Given the description of an element on the screen output the (x, y) to click on. 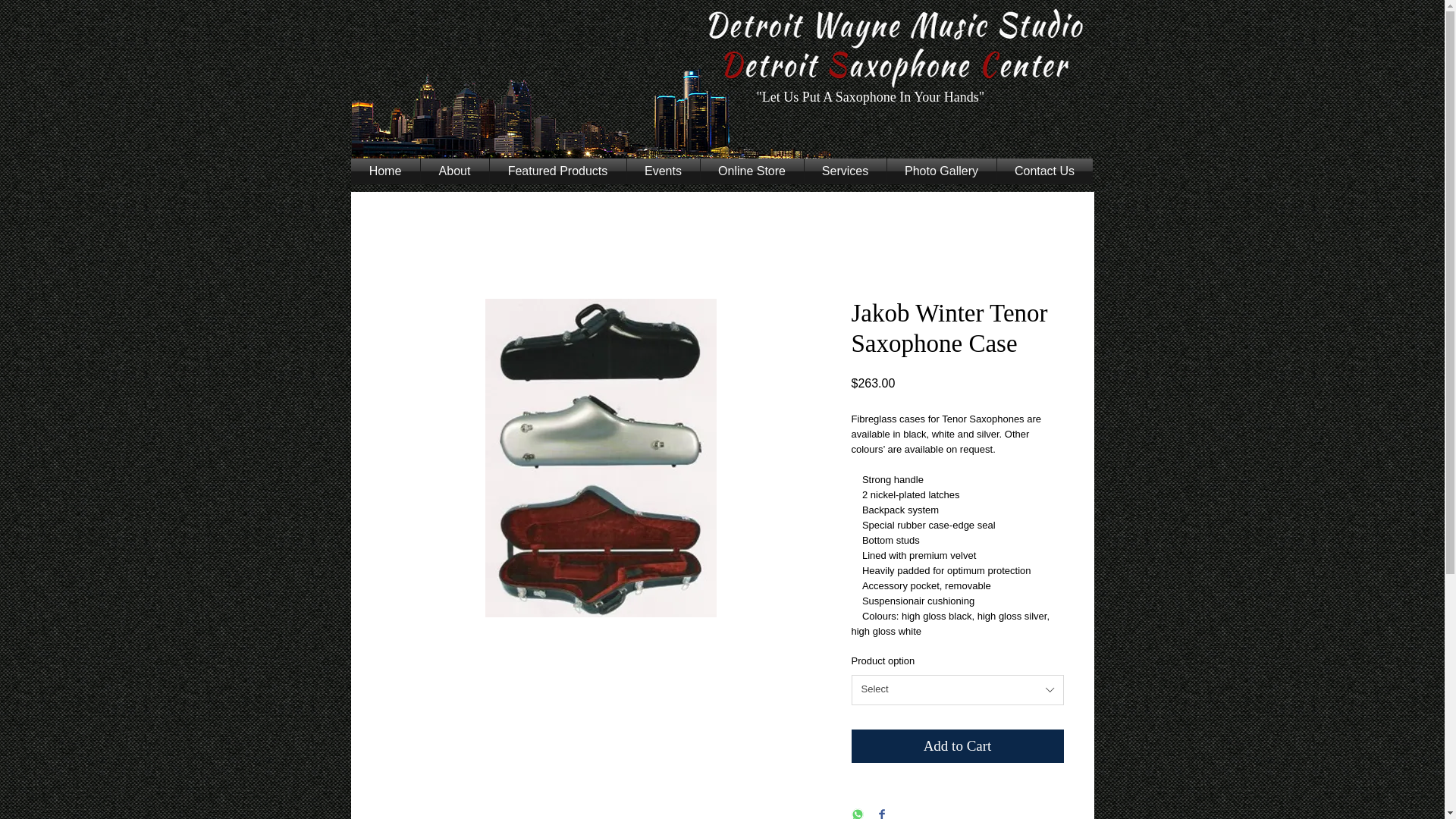
Featured Products (557, 171)
Services (844, 171)
Home (384, 171)
Events (662, 171)
Select (956, 689)
Contact Us (1043, 171)
Online Store (751, 171)
About (453, 171)
Photo Gallery (940, 171)
Add to Cart (956, 746)
Facebook Like (379, 41)
